Given the description of an element on the screen output the (x, y) to click on. 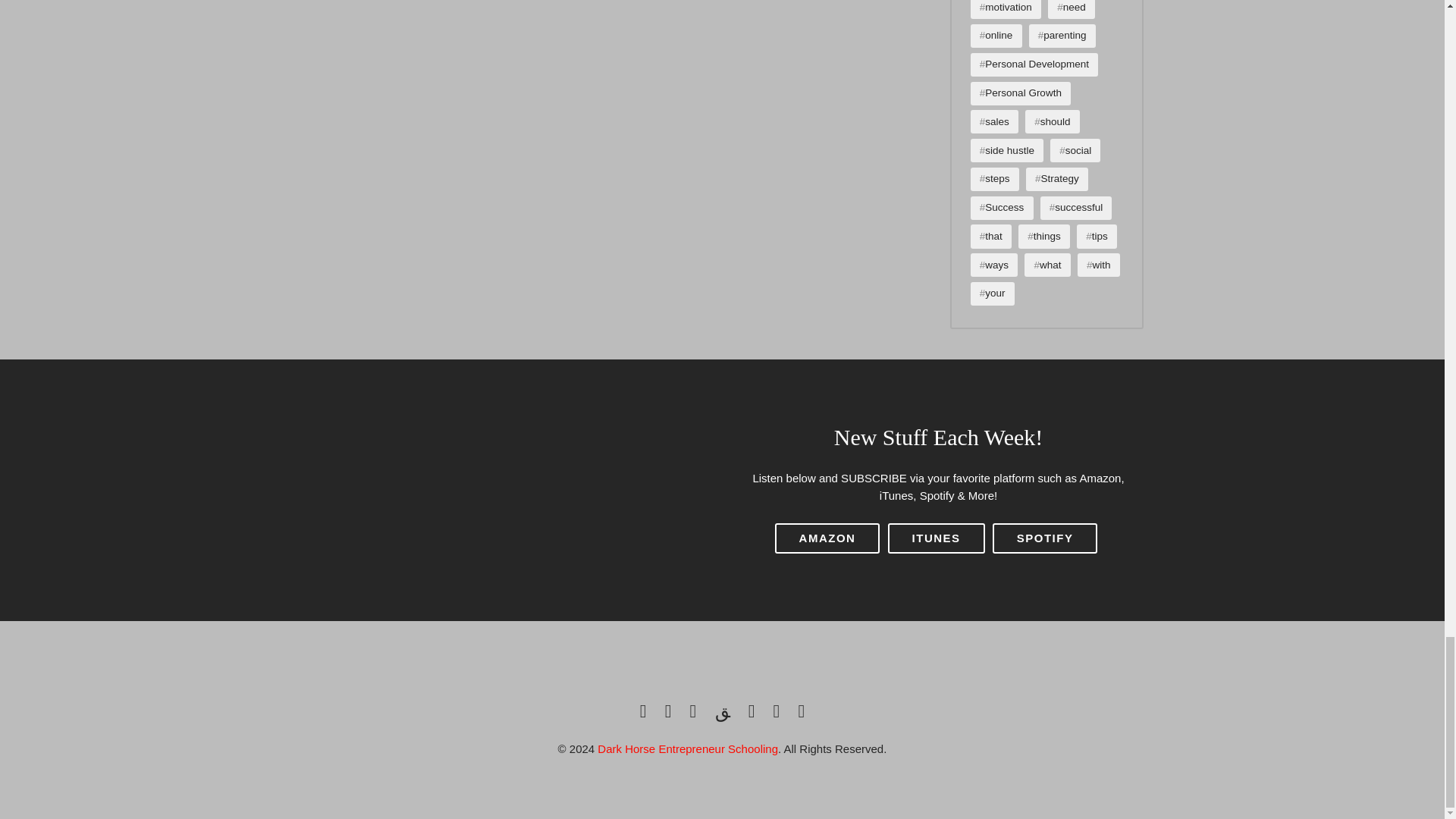
Facebook Profile (642, 711)
YouTube Channel (751, 711)
RSS Feed (801, 711)
